Given the description of an element on the screen output the (x, y) to click on. 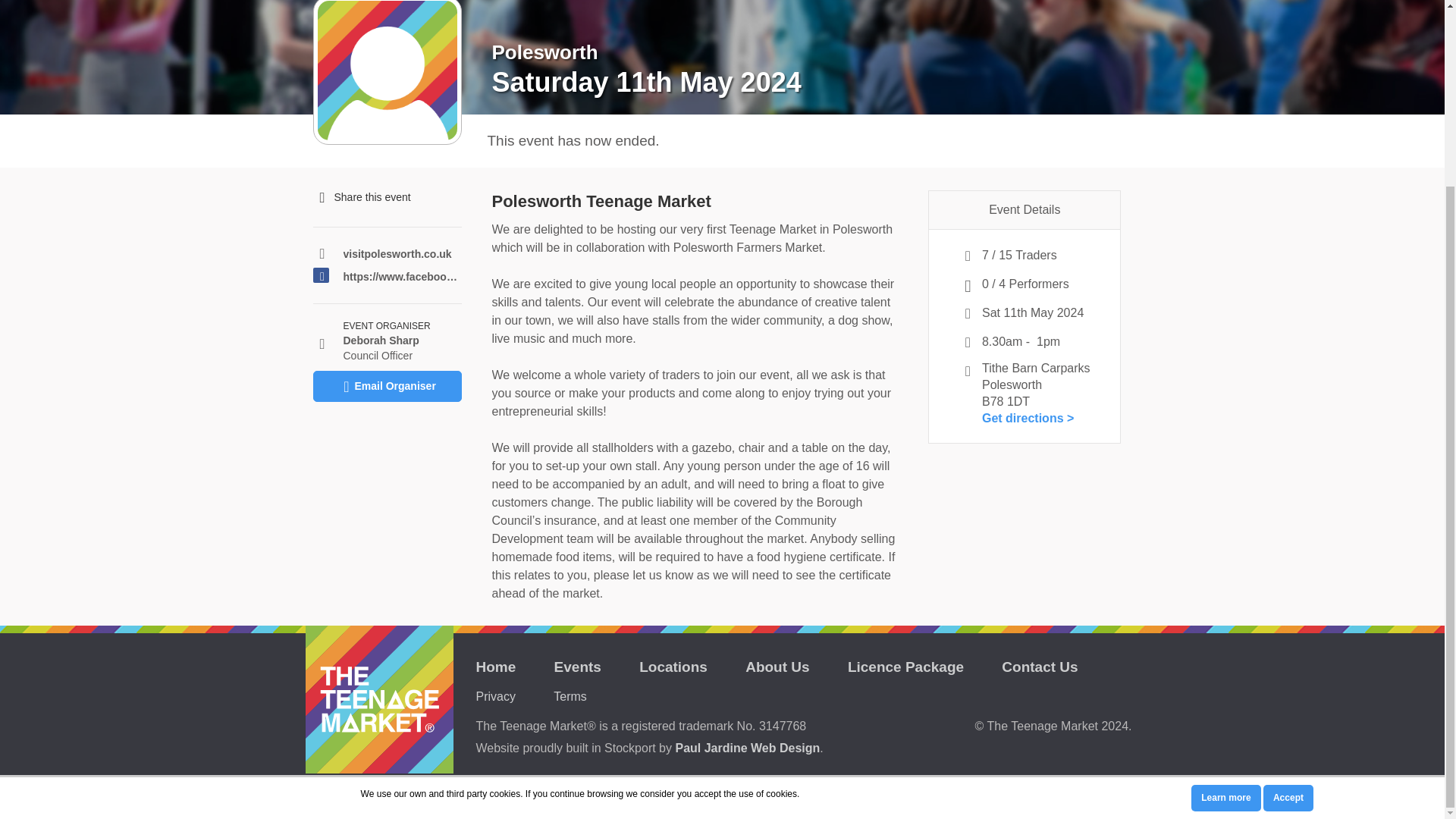
visitpolesworth.co.uk (401, 253)
Licence Package (905, 666)
About Us (777, 666)
Accept (1288, 567)
Learn more (1225, 567)
Contact Us (1039, 666)
Locations (673, 666)
Email Organiser (387, 386)
Paul Jardine Web Design (747, 748)
Events (577, 666)
Terms (569, 696)
Terms (569, 696)
Paul Jardine Web Design (747, 748)
Privacy (495, 696)
Home (496, 666)
